Given the description of an element on the screen output the (x, y) to click on. 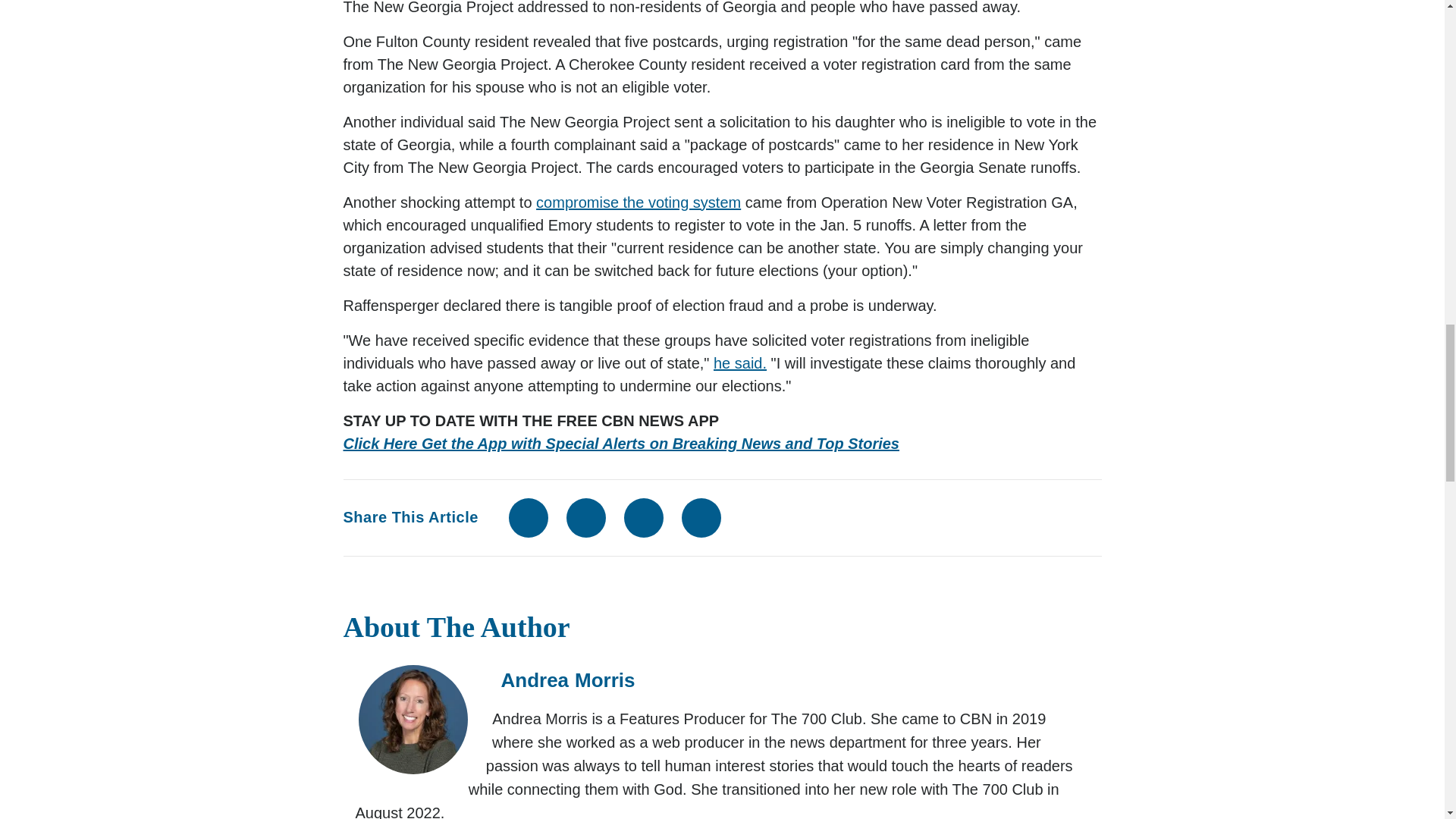
Twitter (585, 517)
Mail (643, 517)
Facebook (528, 517)
Link (700, 517)
